Given the description of an element on the screen output the (x, y) to click on. 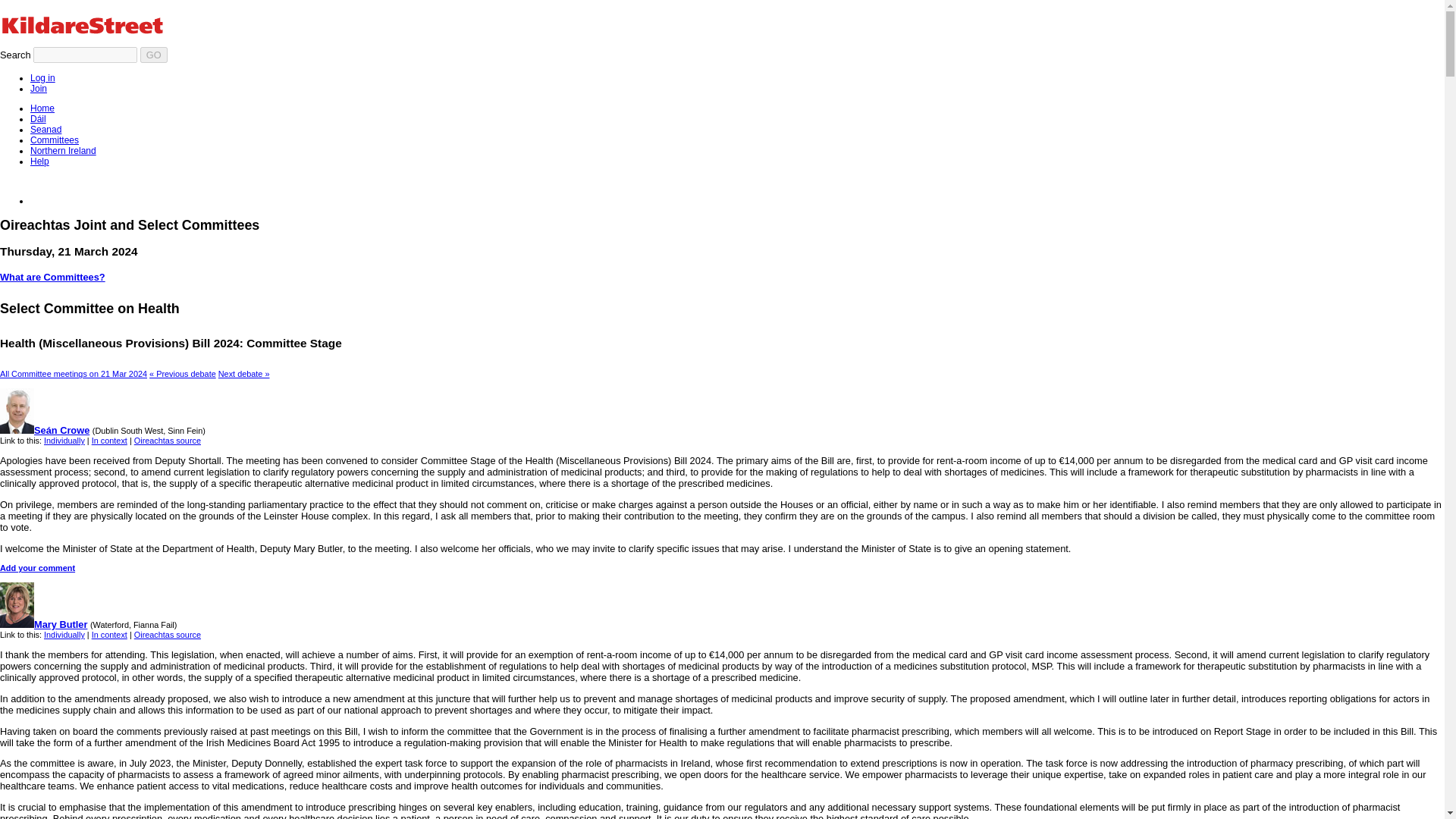
Select Committee on Health (182, 373)
Oireachtas source (166, 440)
Join (38, 88)
Northern Ireland (63, 150)
To the front page of the site (111, 26)
What are Committees? (52, 276)
Log in (42, 77)
In context (109, 440)
Debates of the Northern Ireland Assembly (63, 150)
Help (39, 161)
The front page of the site (42, 108)
GO (153, 54)
See more information about Mary Butler (43, 624)
Add your comment (37, 567)
GO (153, 54)
